Given the description of an element on the screen output the (x, y) to click on. 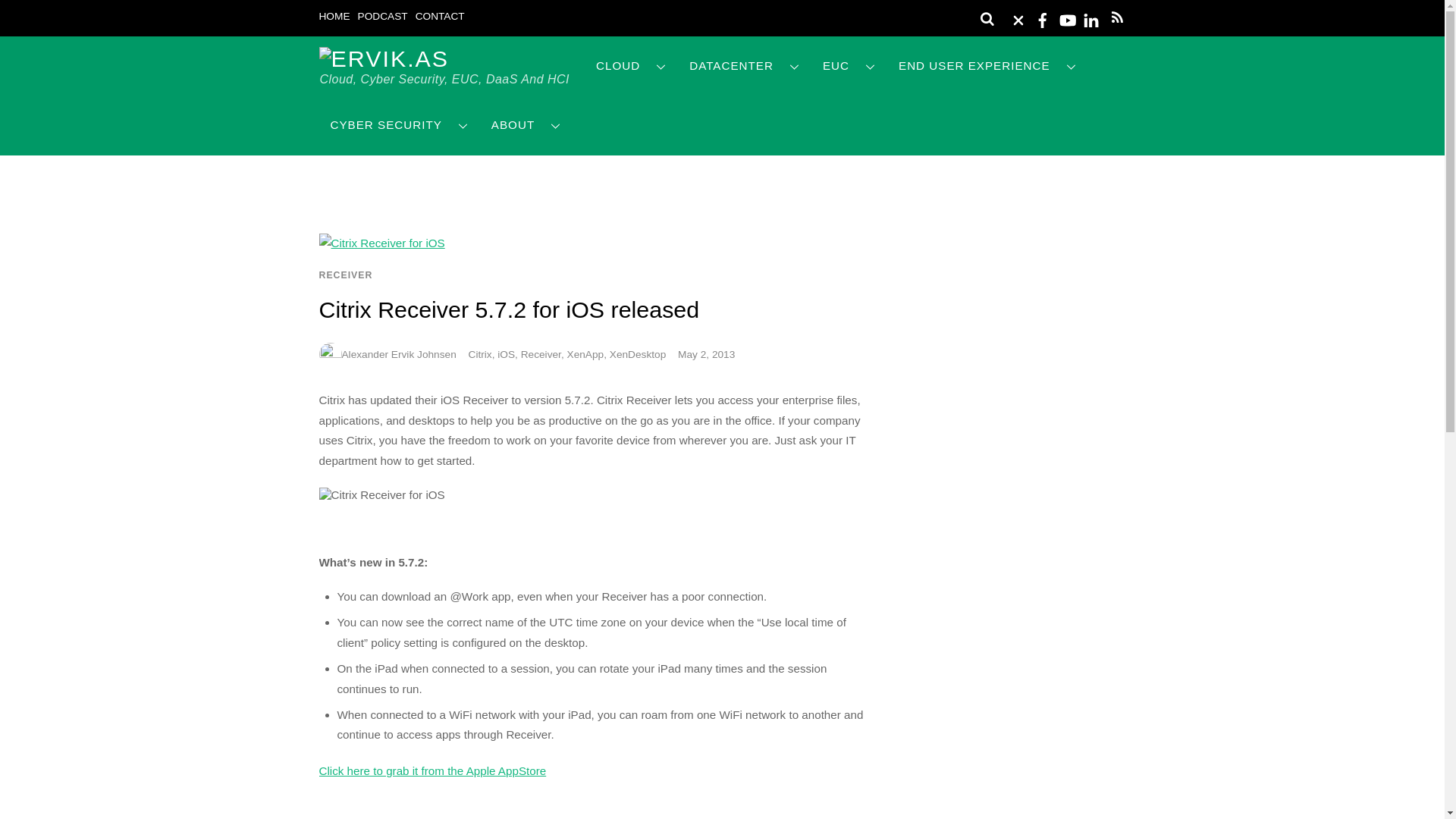
HOME (333, 16)
Citrix Receiver for iOS (381, 243)
CLOUD (631, 66)
Citrix Receiver for iOS 5.7.2 (381, 494)
CONTACT (439, 16)
Ervik.as (383, 58)
PODCAST (382, 16)
DATACENTER (744, 66)
Citrix Receiver for iOS 5.7.2 (432, 770)
